Given the description of an element on the screen output the (x, y) to click on. 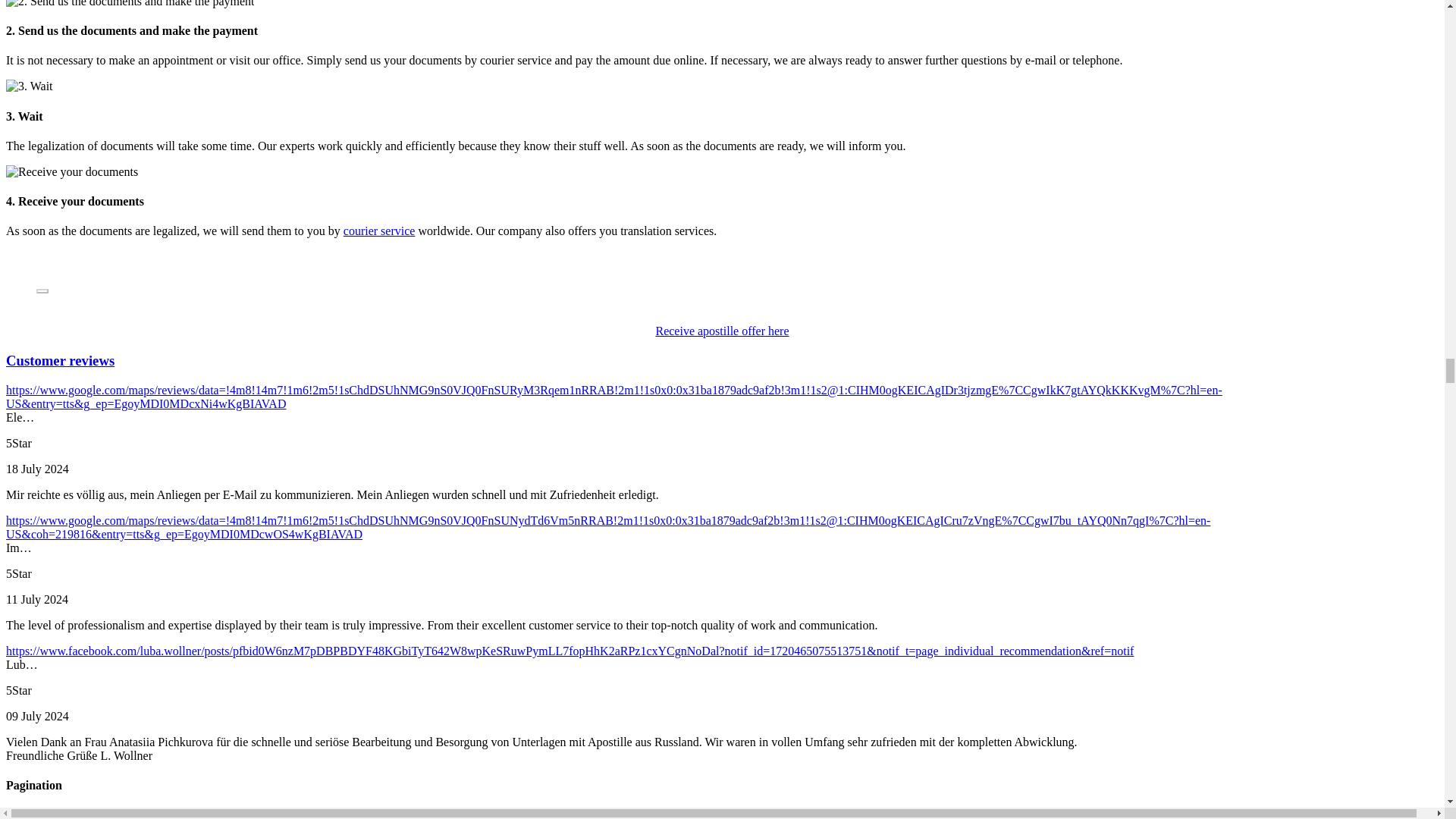
Receive your documents (71, 172)
2. Send us the documents and make the payment (129, 4)
3. Wait (28, 86)
Go to next page (66, 813)
